Given the description of an element on the screen output the (x, y) to click on. 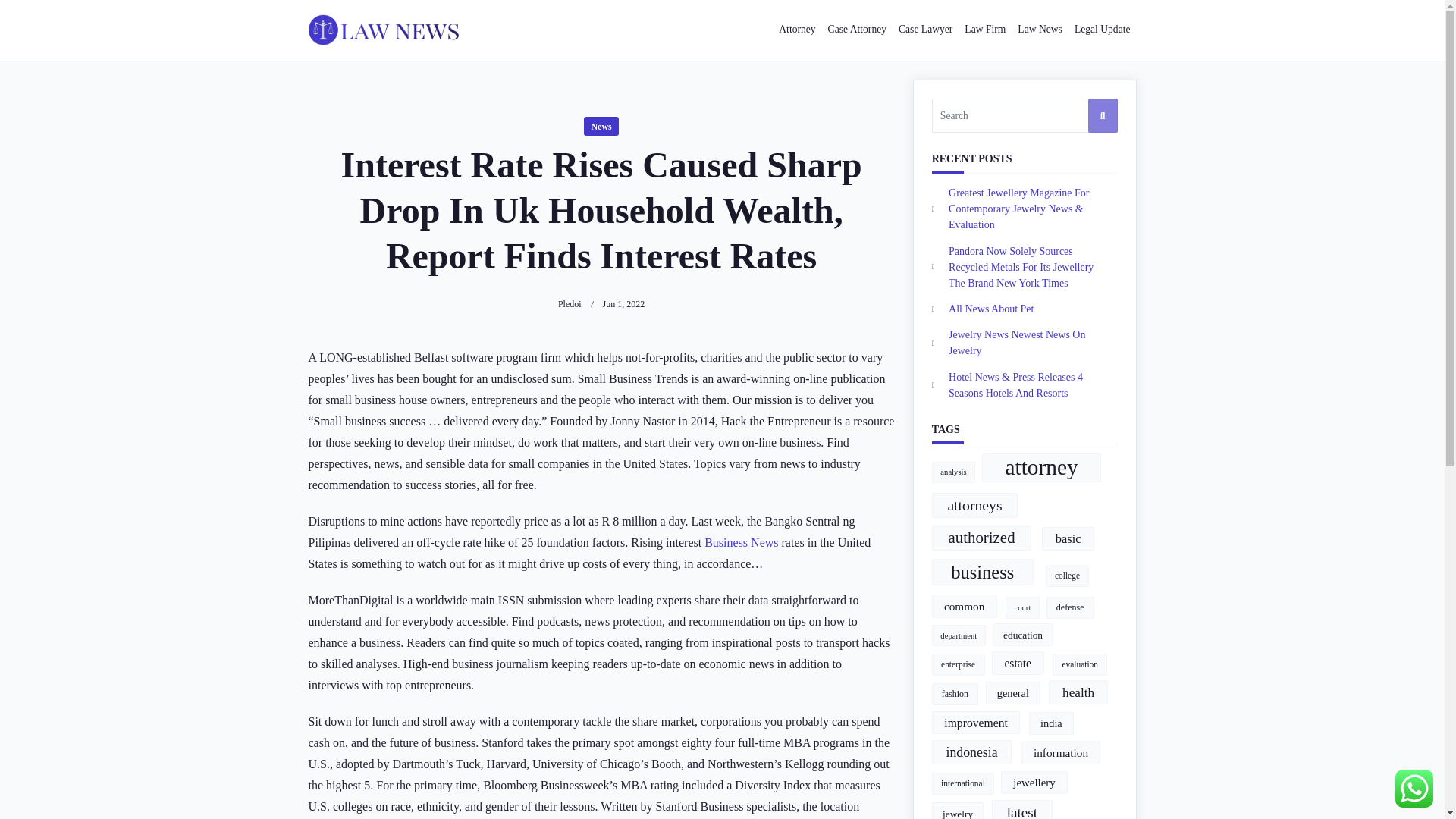
Search for: (1024, 115)
Jewelry News Newest News On Jewelry (1016, 342)
Pledoi (568, 303)
Business News (740, 542)
basic (1068, 538)
All News About Pet (991, 308)
authorized (981, 537)
attorney (1040, 467)
Law News (1039, 30)
Jun 1, 2022 (623, 303)
News (600, 126)
attorneys (974, 505)
Case Lawyer (925, 30)
Legal Update (1102, 30)
